Given the description of an element on the screen output the (x, y) to click on. 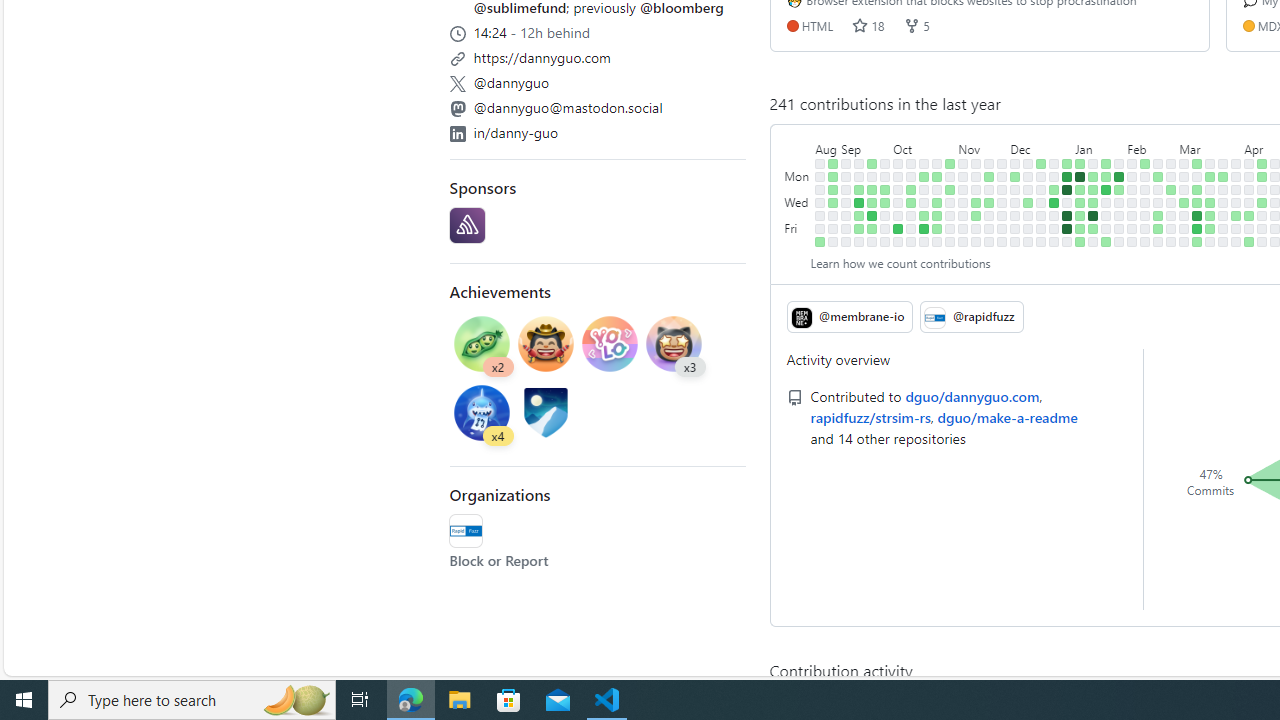
2 contributions on April 11th. (1249, 215)
2 contributions on February 27th. (1171, 189)
March (1209, 145)
Friday (797, 228)
No contributions on November 9th. (962, 215)
Achievement: Pair Extraordinaire x2 (481, 345)
No contributions on October 18th. (924, 202)
No contributions on October 9th. (911, 176)
1 contribution on April 13th. (1249, 241)
13 contributions on January 8th. (1080, 176)
1 contribution on November 22nd. (989, 202)
No contributions on November 30th. (1002, 215)
No contributions on August 23rd. (820, 202)
No contributions on March 28th. (1223, 215)
No contributions on April 20th. (1262, 241)
